Given the description of an element on the screen output the (x, y) to click on. 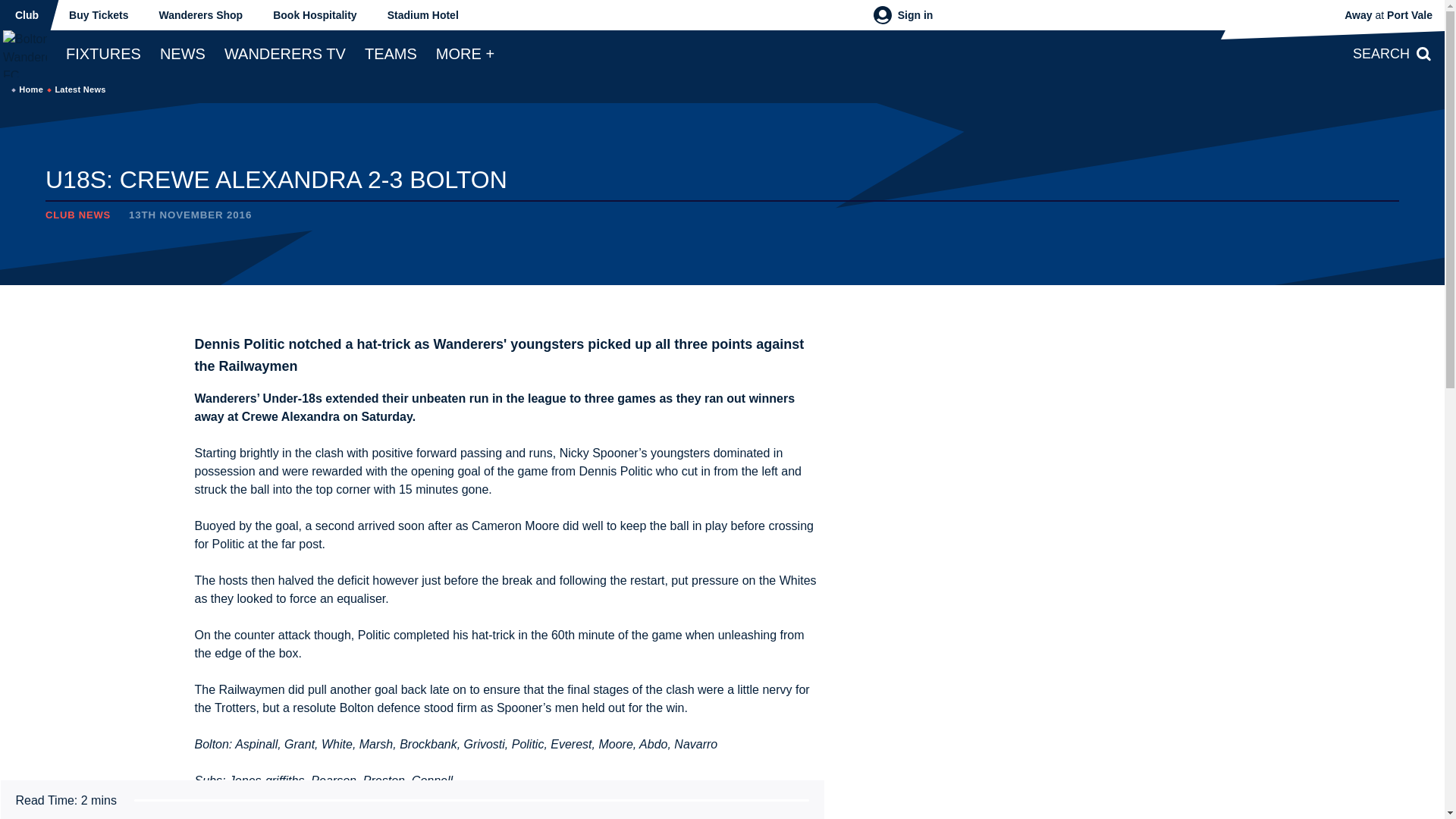
Book Hospitality (314, 15)
Wanderers Shop (199, 15)
News (182, 53)
Club (26, 15)
WANDERERS TV (285, 53)
FIXTURES (103, 53)
Stadium Hotel (423, 15)
Sign in (903, 15)
Back to home (25, 53)
NEWS (182, 53)
Buy Tickets (97, 15)
Fixtures (103, 53)
